Given the description of an element on the screen output the (x, y) to click on. 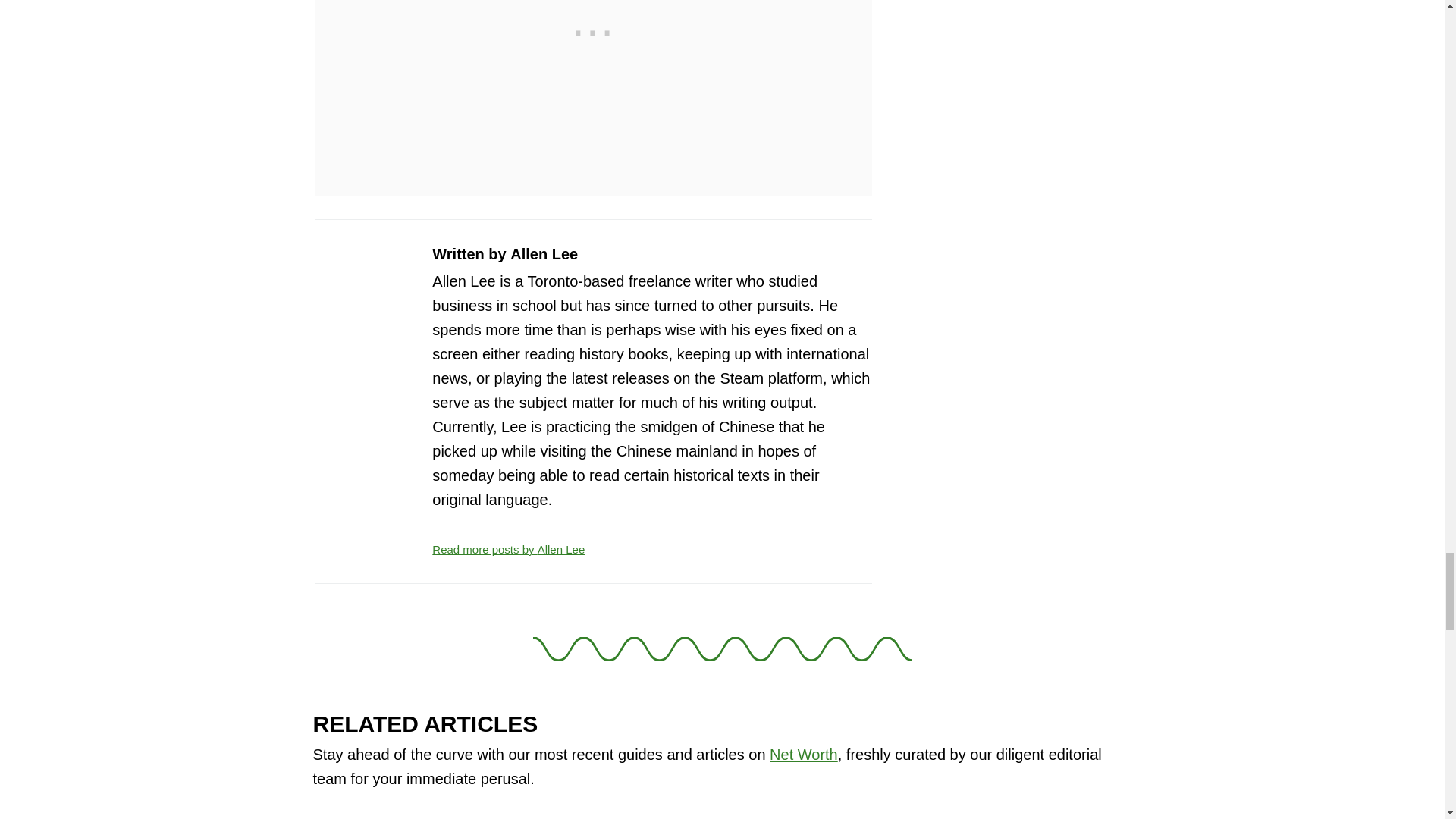
Wavy Line (721, 648)
